Given the description of an element on the screen output the (x, y) to click on. 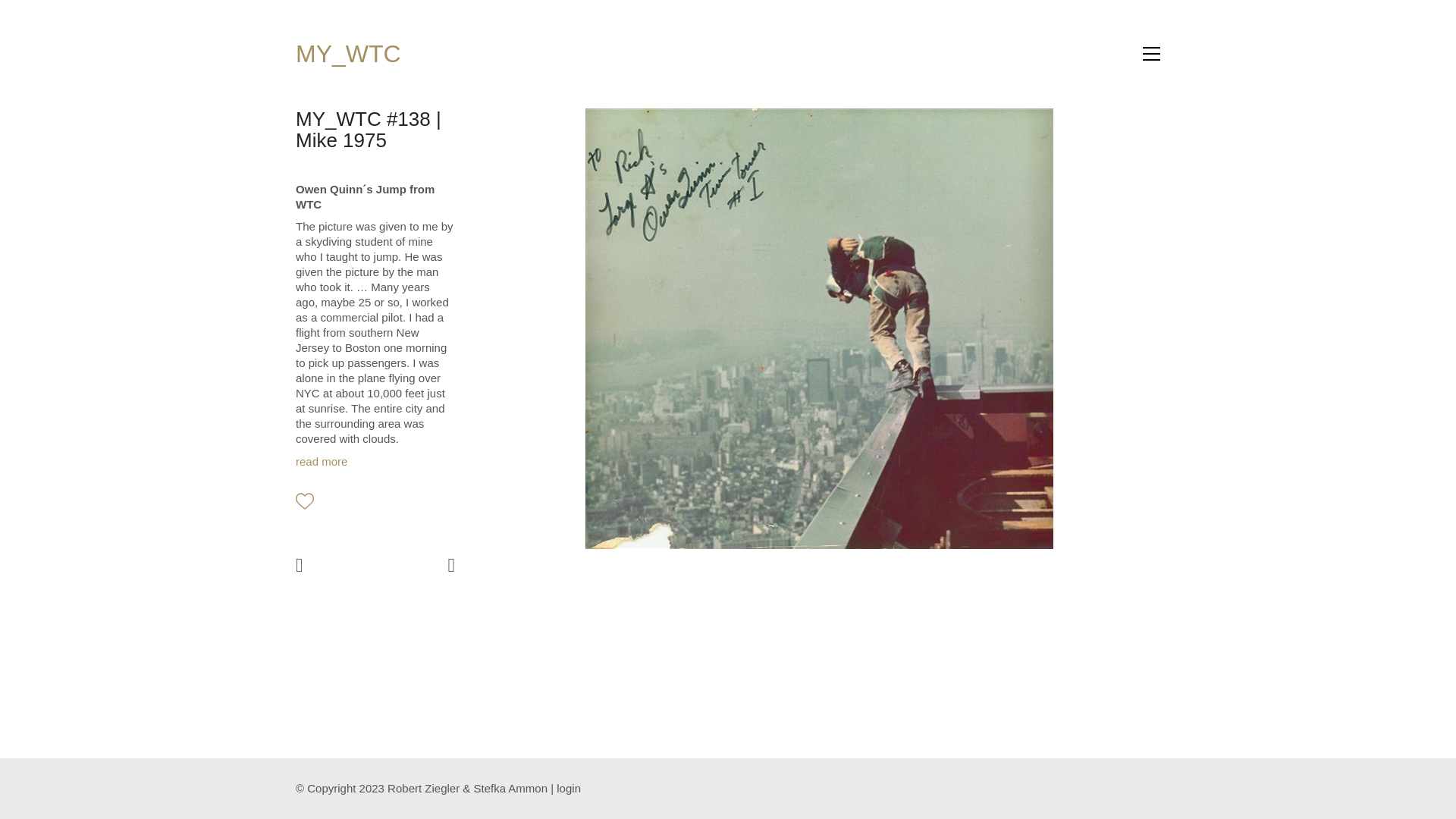
login (568, 788)
read more (321, 461)
